Given the description of an element on the screen output the (x, y) to click on. 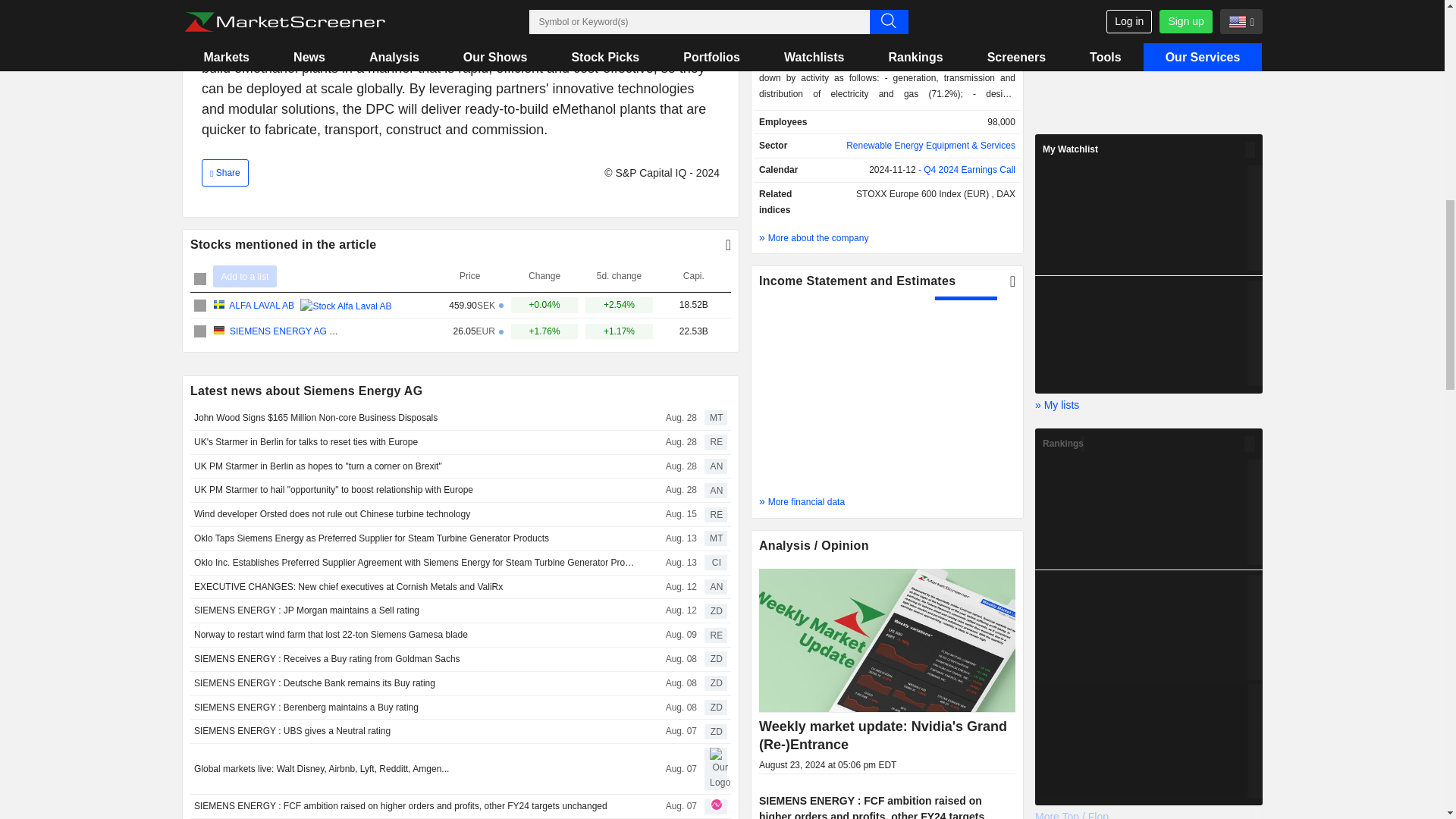
on (199, 331)
on (199, 305)
on (199, 278)
